Given the description of an element on the screen output the (x, y) to click on. 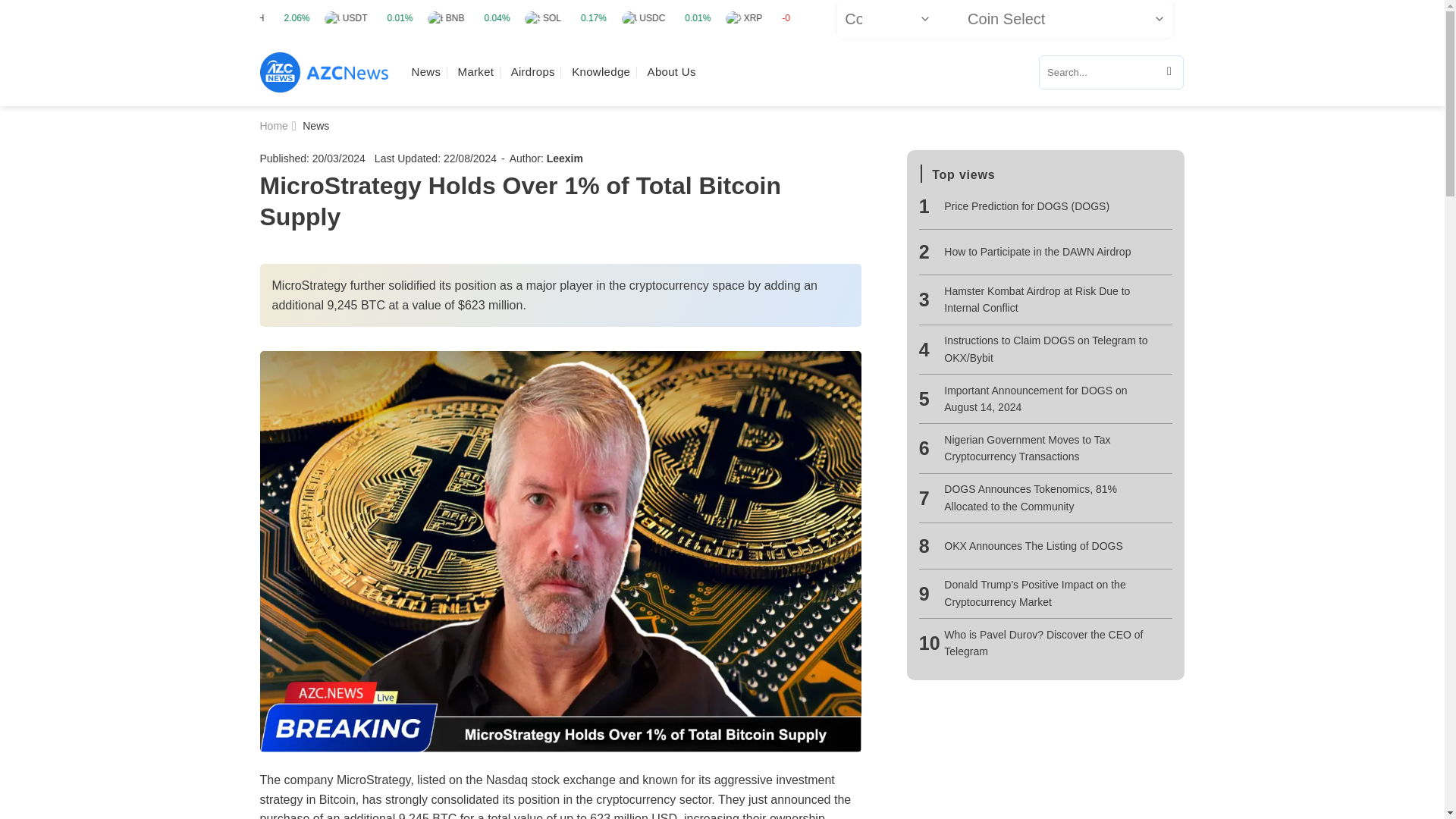
Leexim (565, 157)
About Us (671, 71)
News (315, 125)
AZC.News - Cryptocurrency News Daily (323, 72)
News (425, 71)
Airdrops (532, 71)
Knowledge (601, 71)
Home (272, 125)
Market (476, 71)
